Given the description of an element on the screen output the (x, y) to click on. 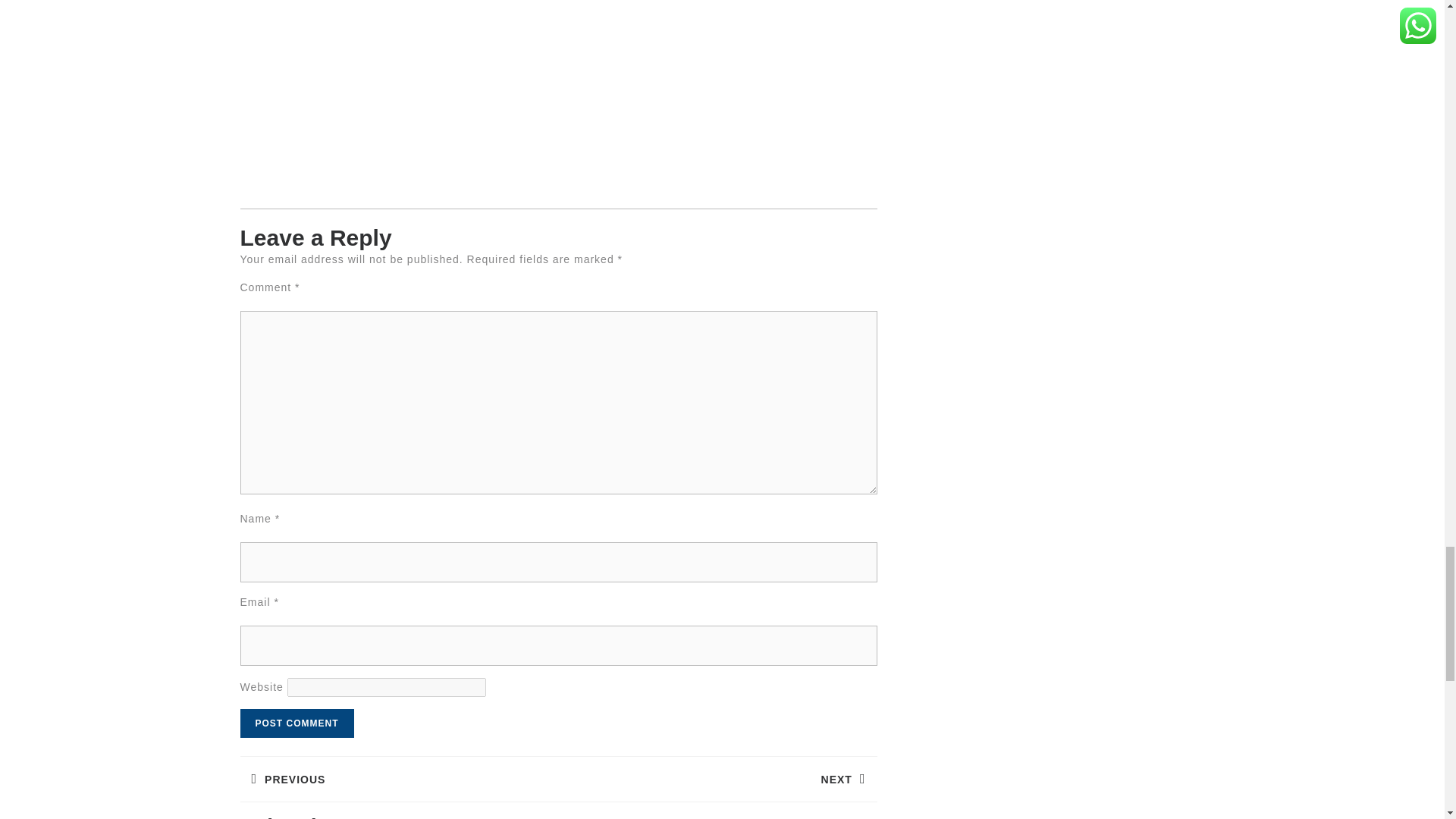
Post Comment (296, 723)
